Given the description of an element on the screen output the (x, y) to click on. 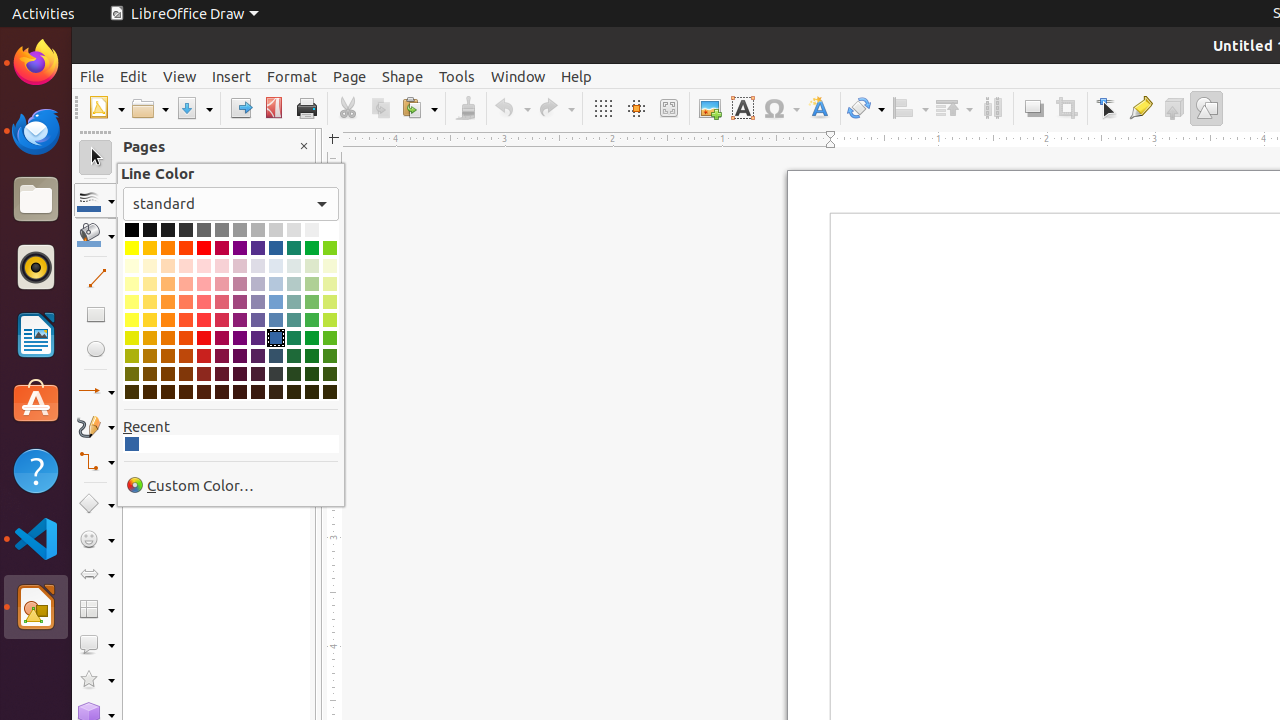
Light Orange 2 Element type: list-item (168, 302)
Dark Green 1 Element type: list-item (312, 338)
Dark Brick 3 Element type: list-item (186, 374)
Undo Element type: push-button (512, 108)
Black Element type: list-item (132, 230)
